Given the description of an element on the screen output the (x, y) to click on. 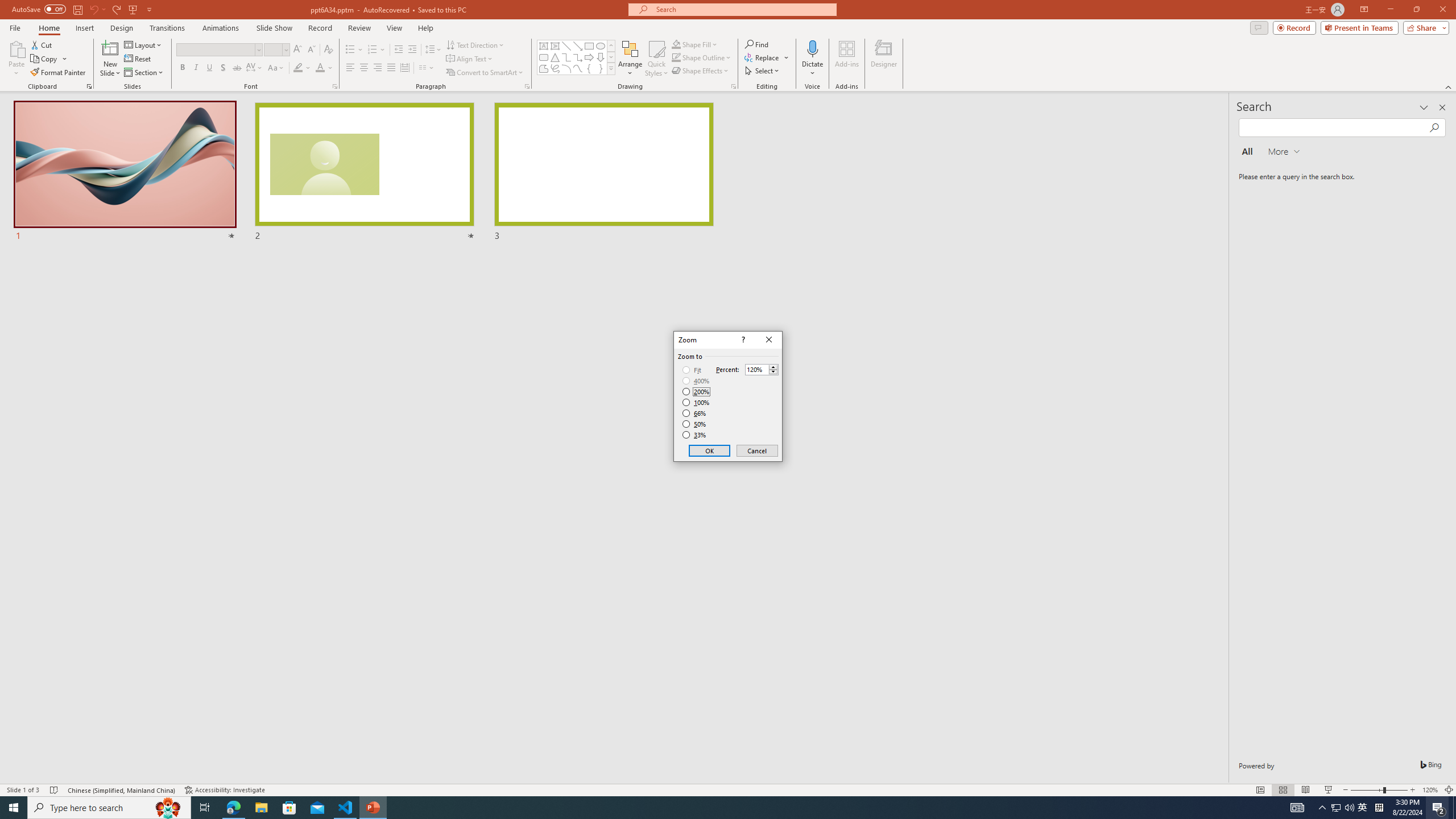
100% (696, 402)
